Given the description of an element on the screen output the (x, y) to click on. 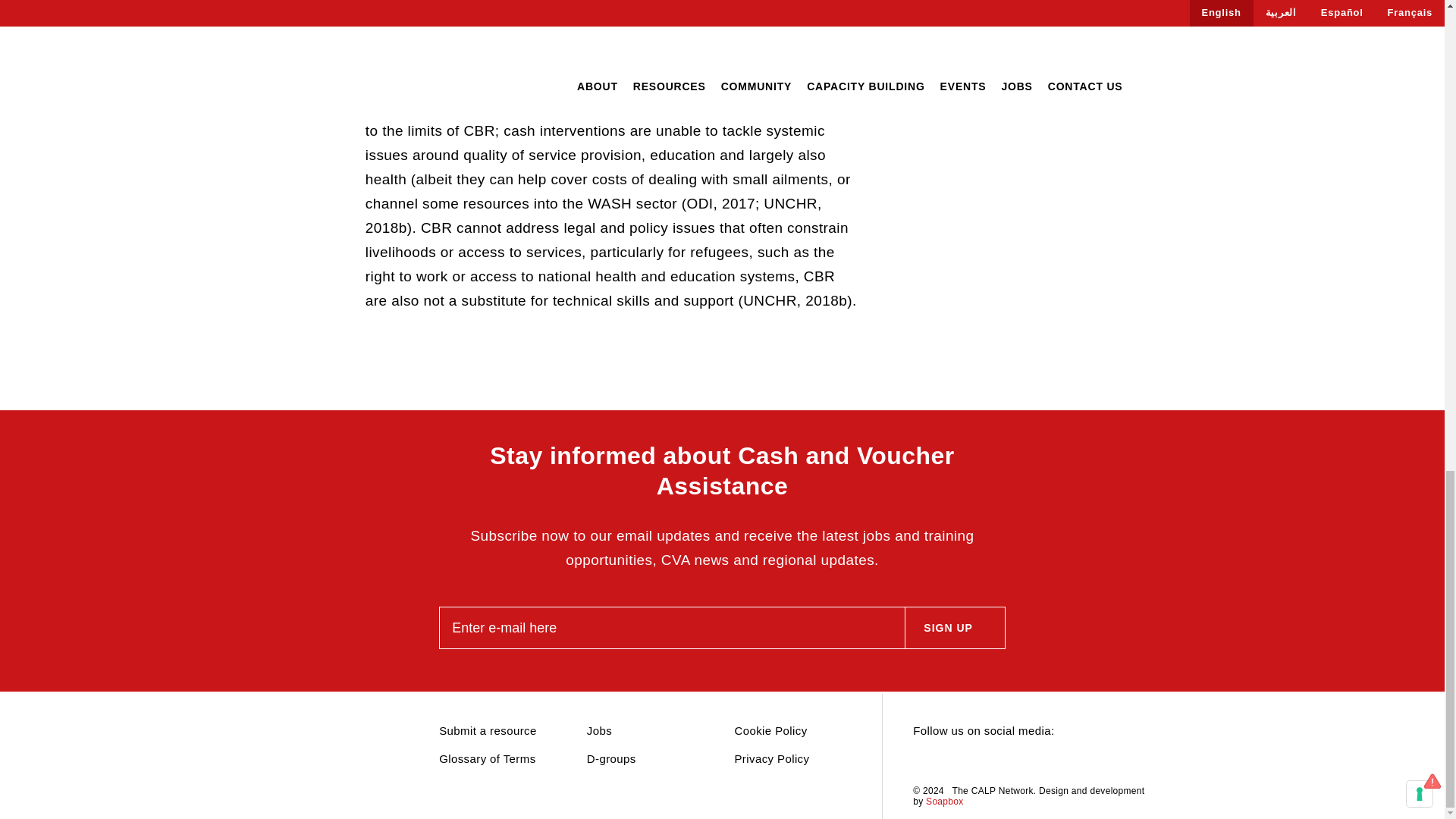
Facebook (973, 761)
Twitter (920, 761)
LinkedIn (947, 761)
YouTube (1001, 761)
